Given the description of an element on the screen output the (x, y) to click on. 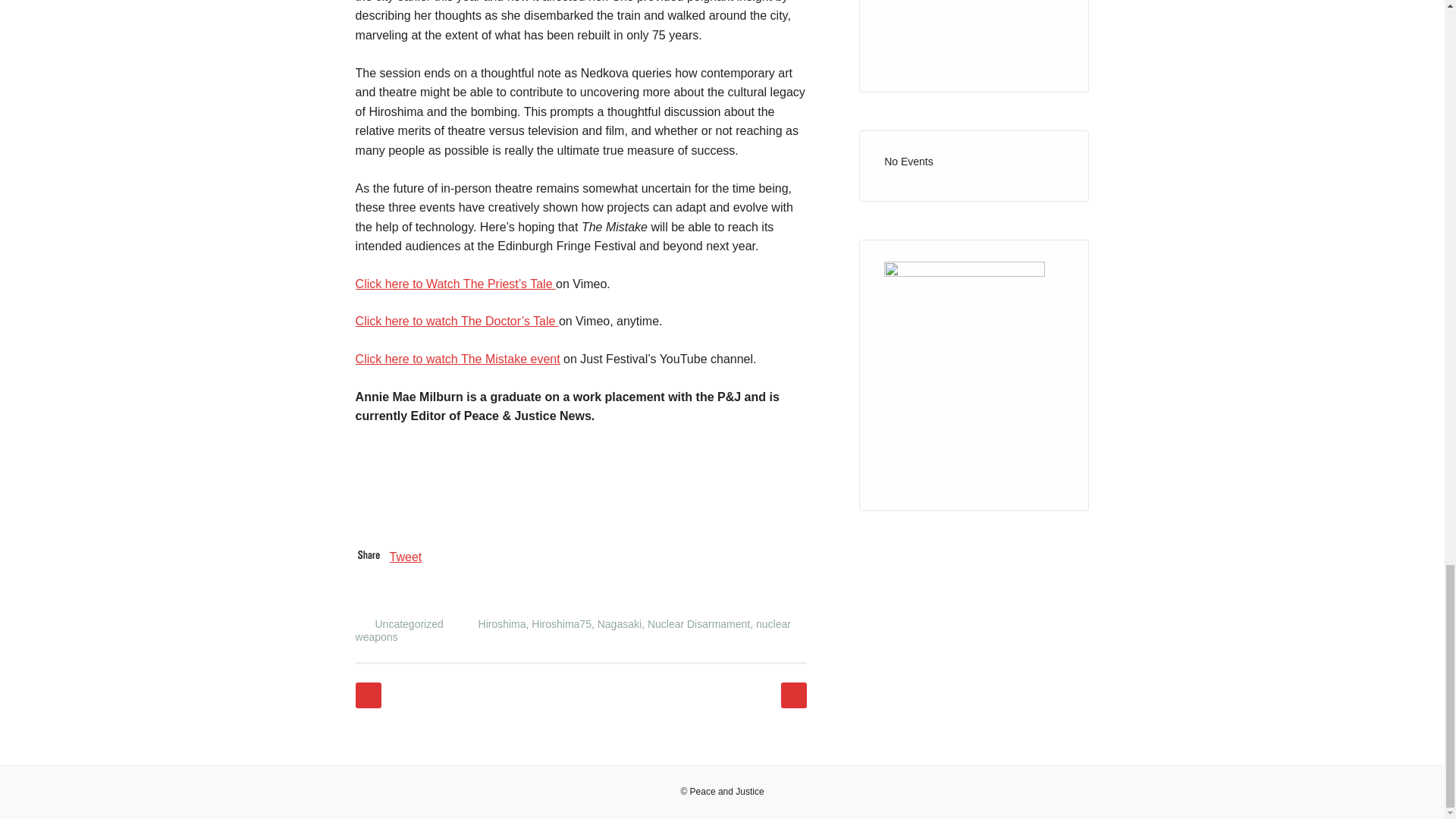
Hiroshima75 (561, 623)
Nagasaki (619, 623)
Uncategorized (408, 623)
nuclear weapons (572, 630)
Nuclear Disarmament (698, 623)
Tweet (406, 556)
Click here to watch The Mistake event (457, 358)
Hiroshima (502, 623)
